Given the description of an element on the screen output the (x, y) to click on. 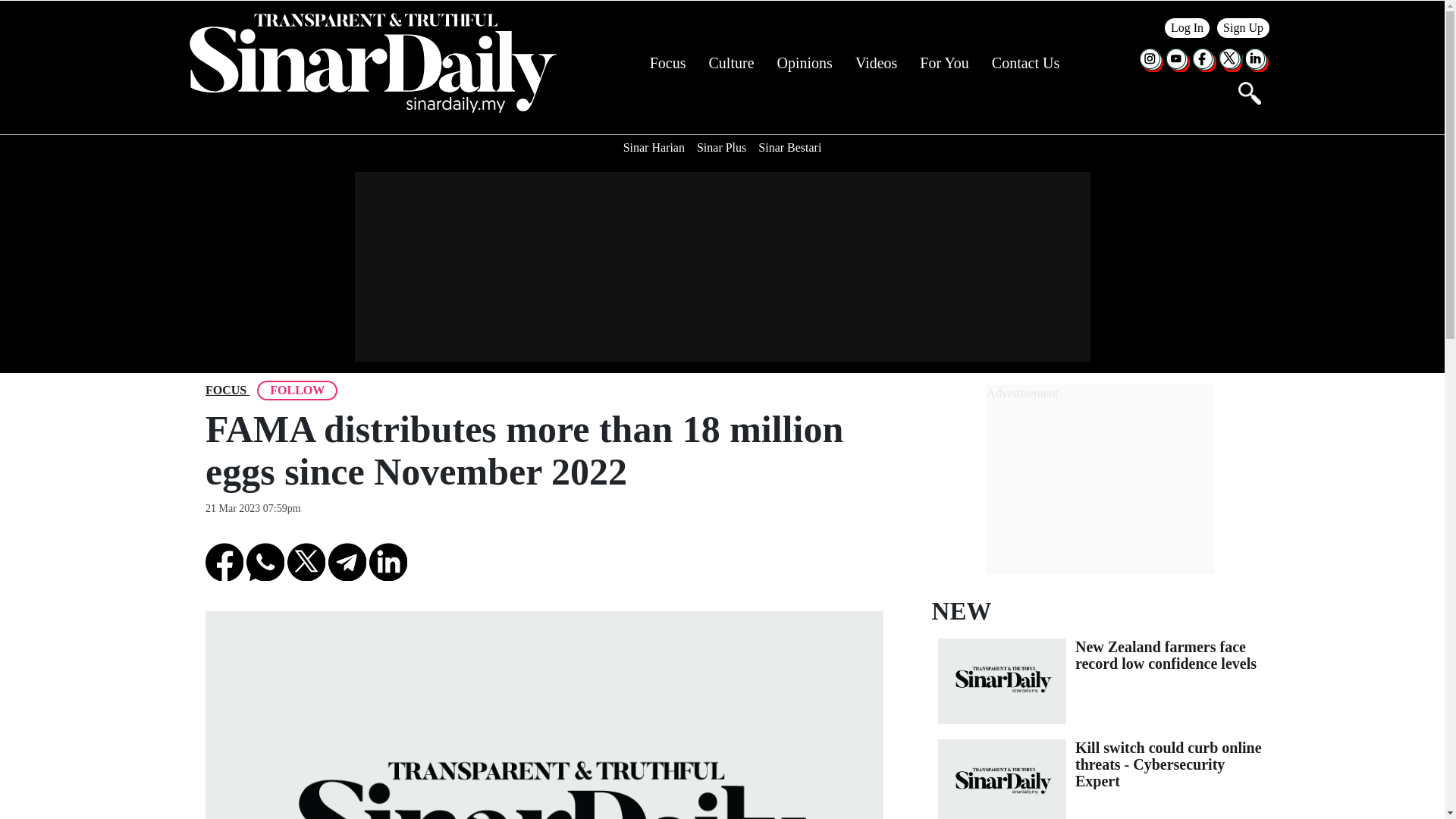
Contact Us (1025, 63)
Share Article on Whatsapp (264, 561)
Sinar Plus (721, 147)
Log In (1186, 27)
Focus (225, 390)
signup (1243, 27)
Focus (667, 63)
Log In (1186, 27)
Sinar Daily (371, 63)
Videos (876, 63)
Share on Telegram (347, 561)
For You (944, 63)
Share Article on Facebook (224, 561)
Sign Up (1243, 27)
Share on Twitter (305, 561)
